Given the description of an element on the screen output the (x, y) to click on. 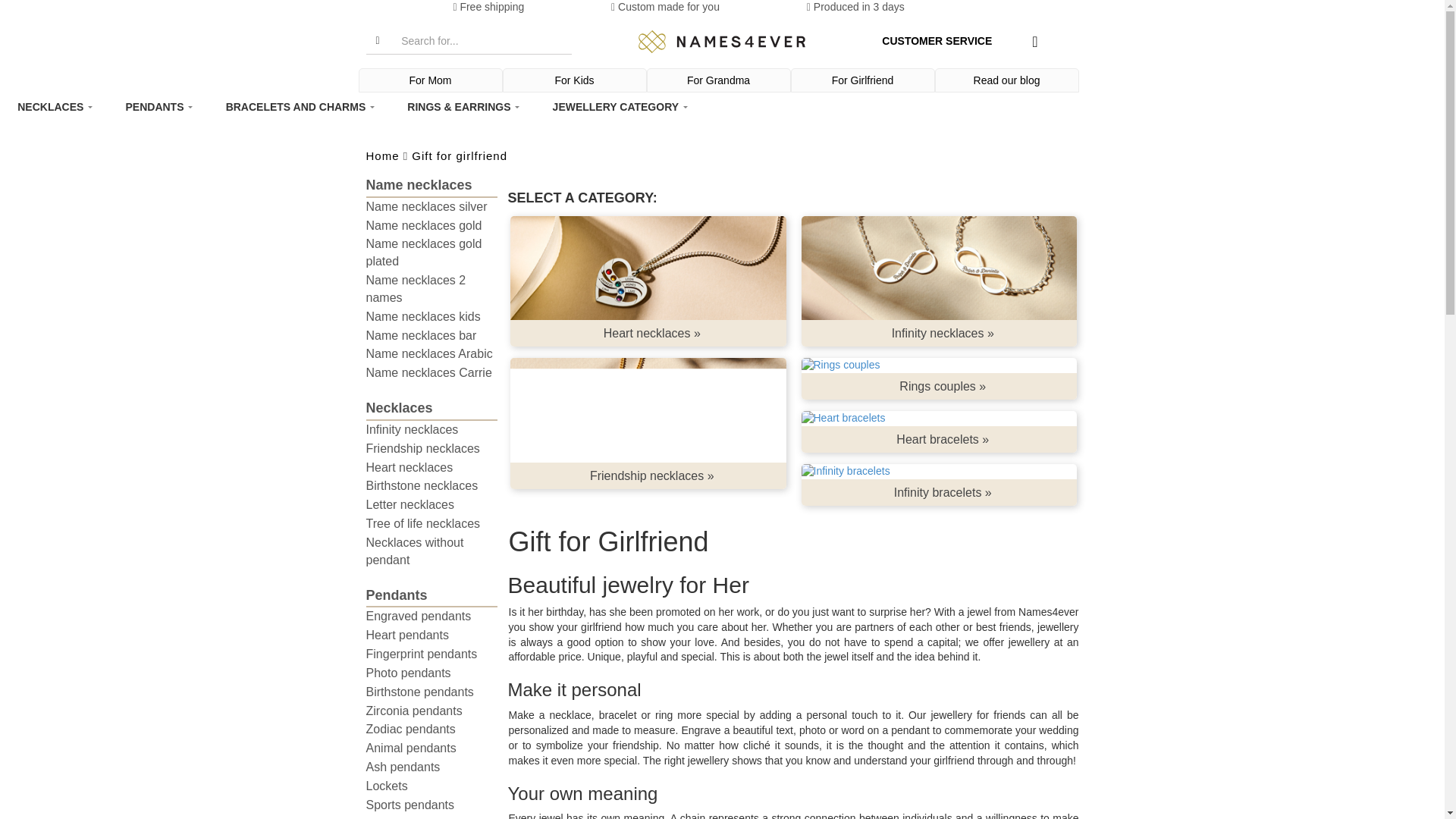
For Grandma (718, 79)
Read our blog (1007, 79)
Heart necklaces (648, 268)
Friendship necklaces (648, 409)
For Kids (574, 79)
Home (721, 41)
Rings couples (938, 365)
For Girlfriend (863, 79)
Infinity bracelets (938, 471)
Klantenservice (936, 40)
Infinity necklaces (938, 268)
CUSTOMER SERVICE (936, 40)
Heart bracelets (938, 418)
For Mom (430, 79)
